Given the description of an element on the screen output the (x, y) to click on. 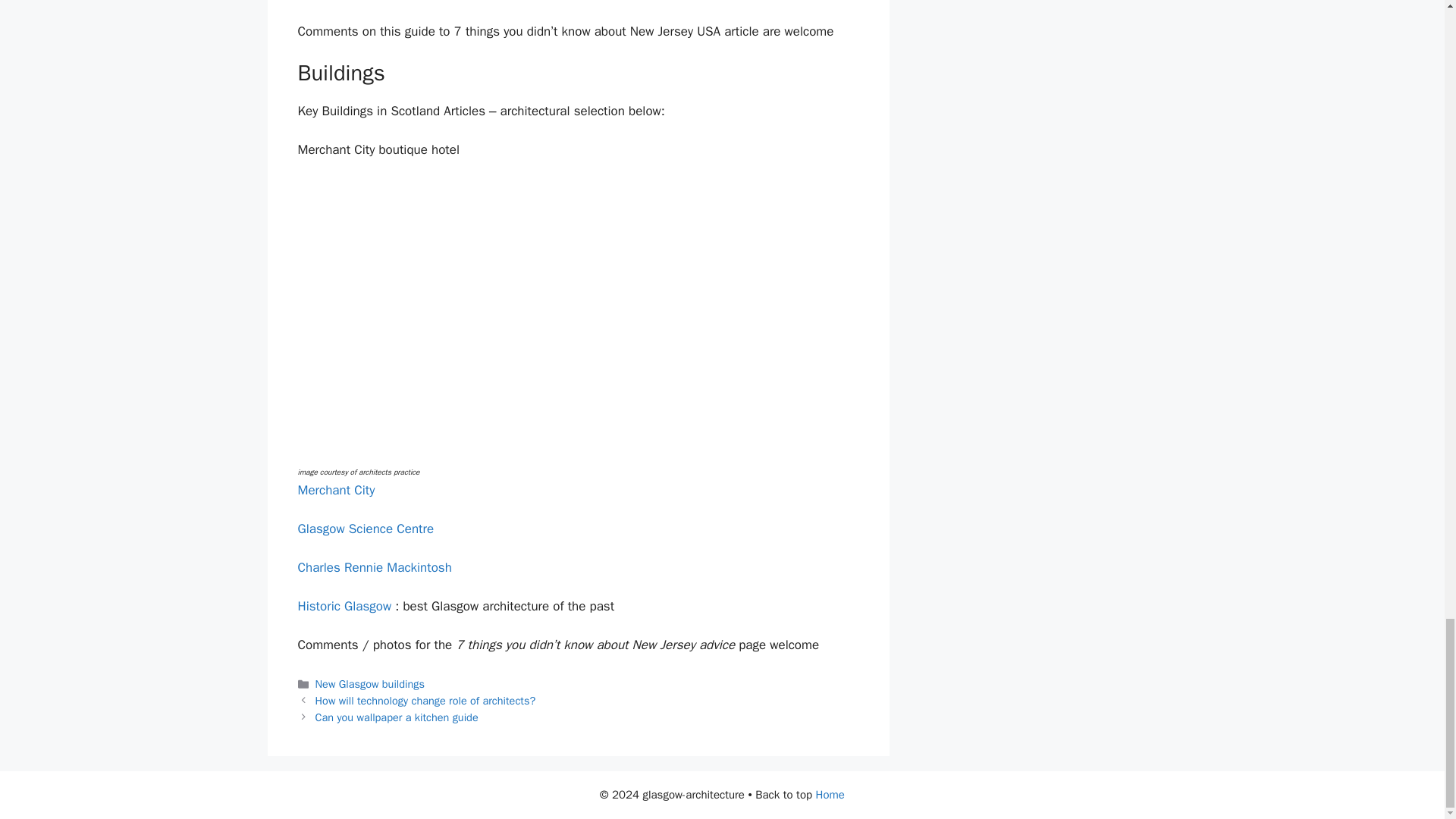
Historic Glasgow (344, 606)
Home (829, 794)
Can you wallpaper a kitchen guide (397, 716)
Merchant City (335, 489)
New Glasgow buildings (370, 684)
How will technology change role of architects? (425, 700)
Glasgow Science Centre (365, 528)
Charles Rennie Mackintosh (374, 567)
